Given the description of an element on the screen output the (x, y) to click on. 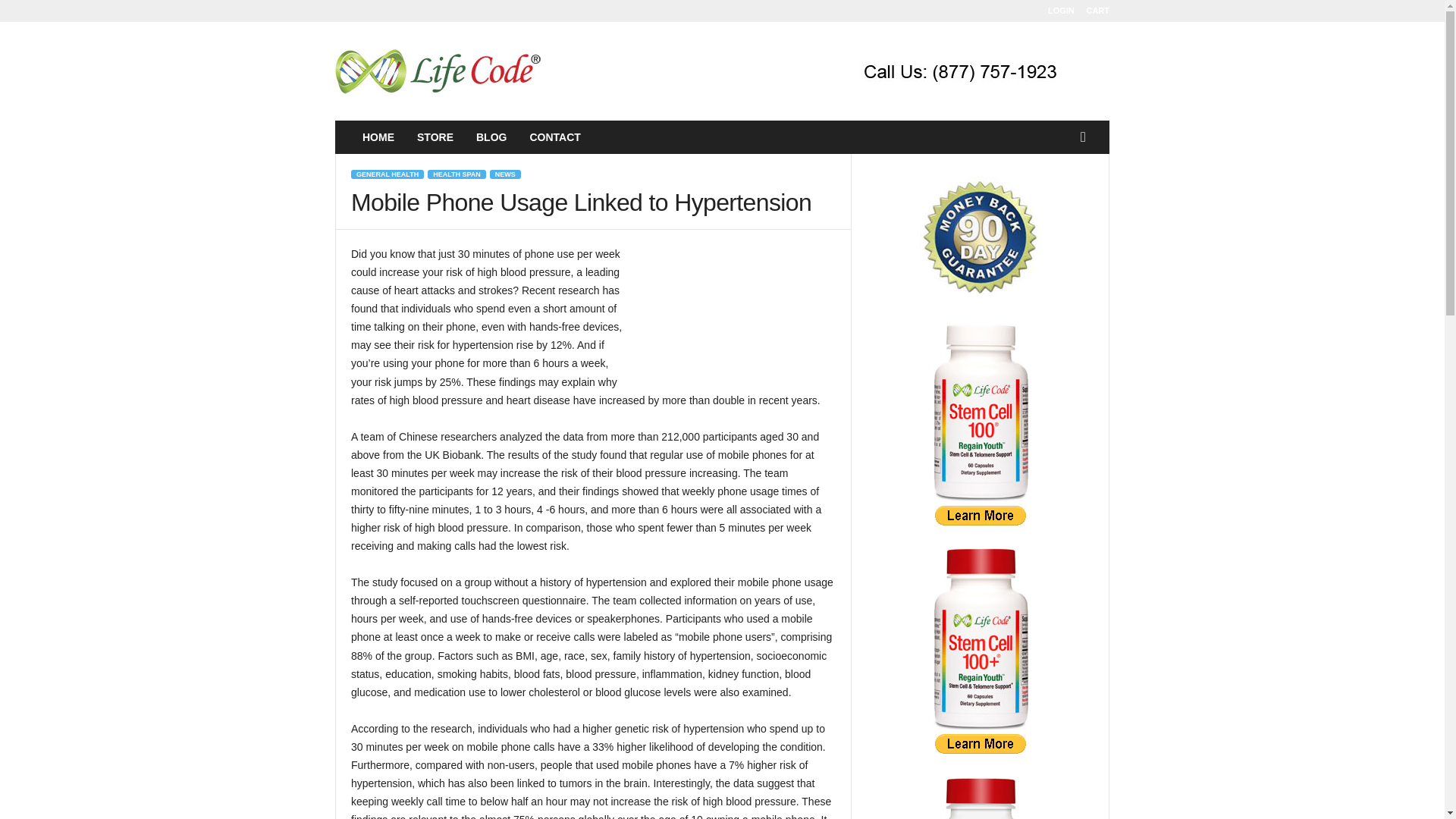
Stem Cell 100 (980, 515)
HOME (378, 136)
STORE (435, 136)
BLOG (491, 136)
NEWS (505, 174)
LOGIN (1061, 10)
Life Code (437, 70)
CART (1097, 10)
HEALTH SPAN (457, 174)
CONTACT (554, 136)
